Given the description of an element on the screen output the (x, y) to click on. 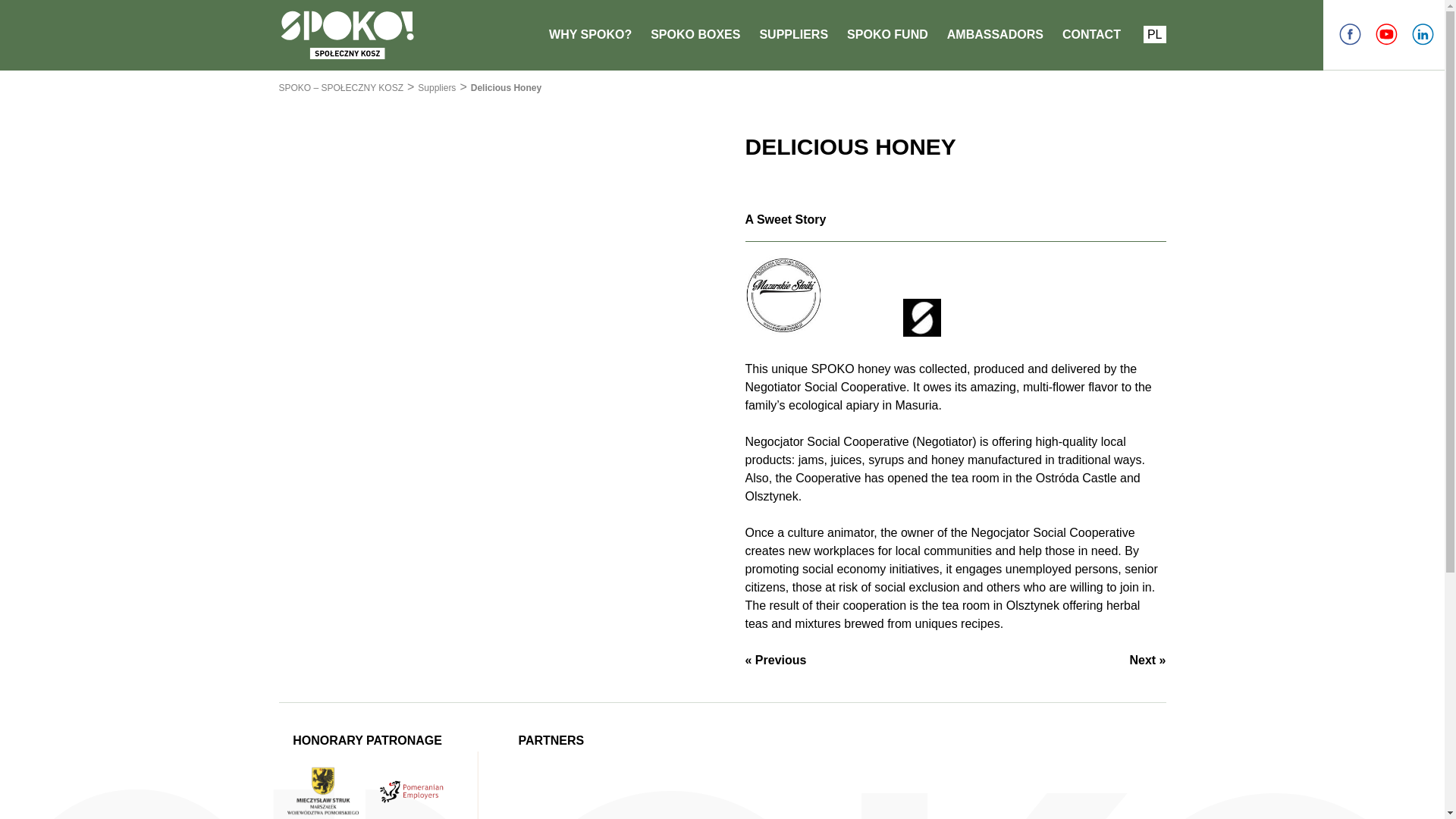
Delicious Honey (505, 87)
AMBASSADORS (995, 33)
CONTACT (1091, 33)
SPOKO BOXES (694, 33)
SPOKO FUND (887, 33)
SUPPLIERS (793, 33)
WHY SPOKO? (589, 33)
Suppliers (436, 87)
Delicious Honey (505, 87)
PL (1154, 34)
